Given the description of an element on the screen output the (x, y) to click on. 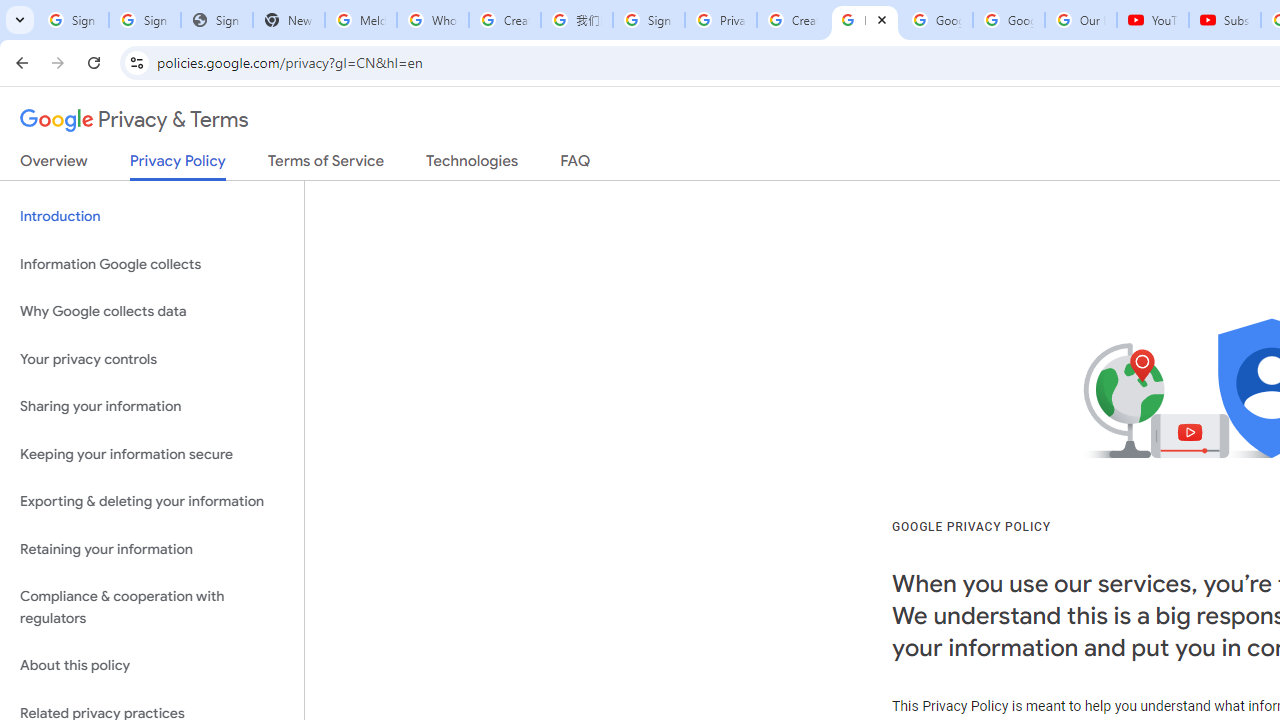
Google Account (1008, 20)
New Tab (289, 20)
Terms of Service (326, 165)
Privacy & Terms (134, 120)
Create your Google Account (504, 20)
